Given the description of an element on the screen output the (x, y) to click on. 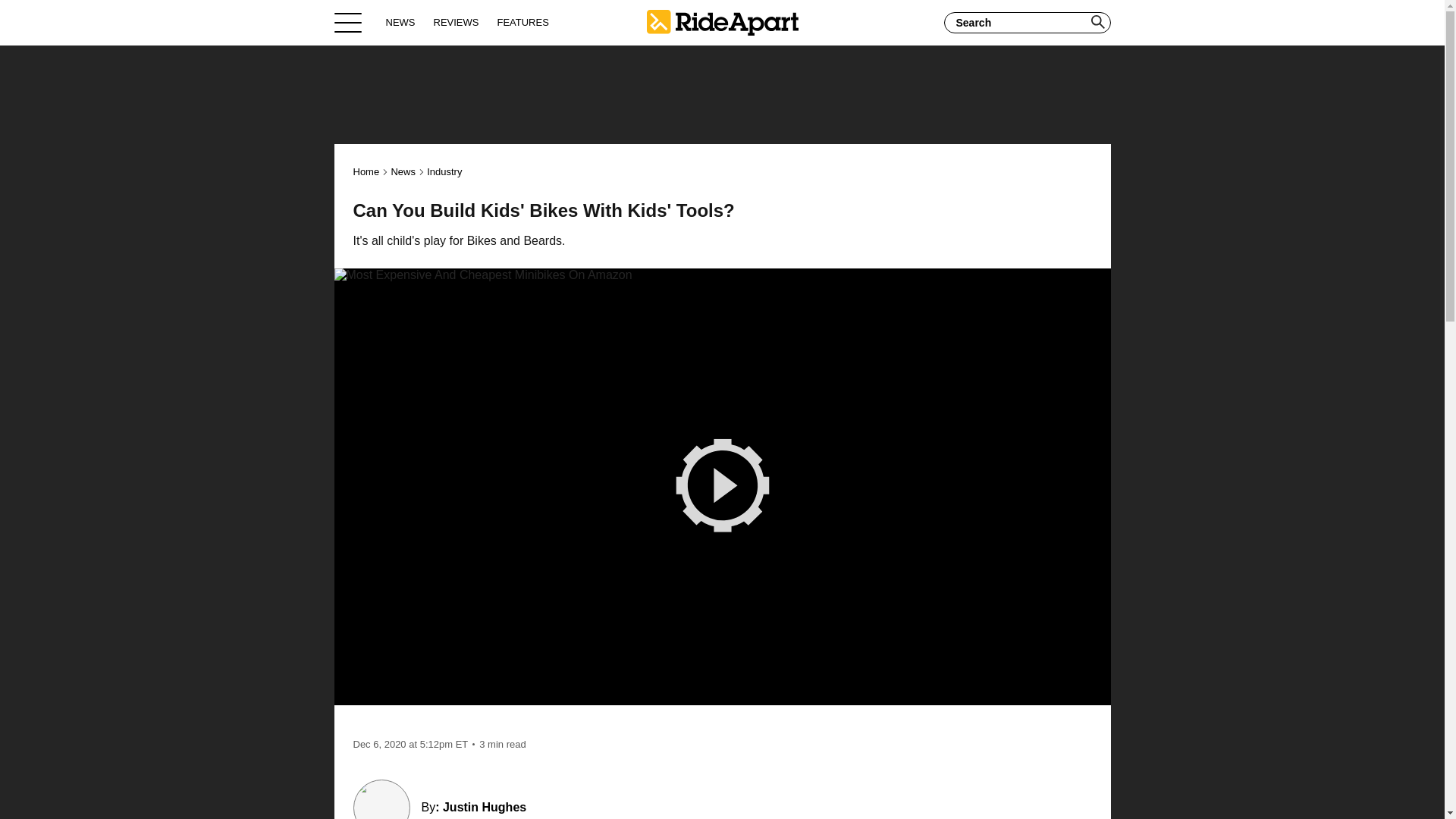
Justin Hughes (483, 807)
News (402, 171)
REVIEWS (456, 22)
NEWS (399, 22)
FEATURES (522, 22)
Industry (443, 171)
Home (366, 171)
Home (721, 22)
